Given the description of an element on the screen output the (x, y) to click on. 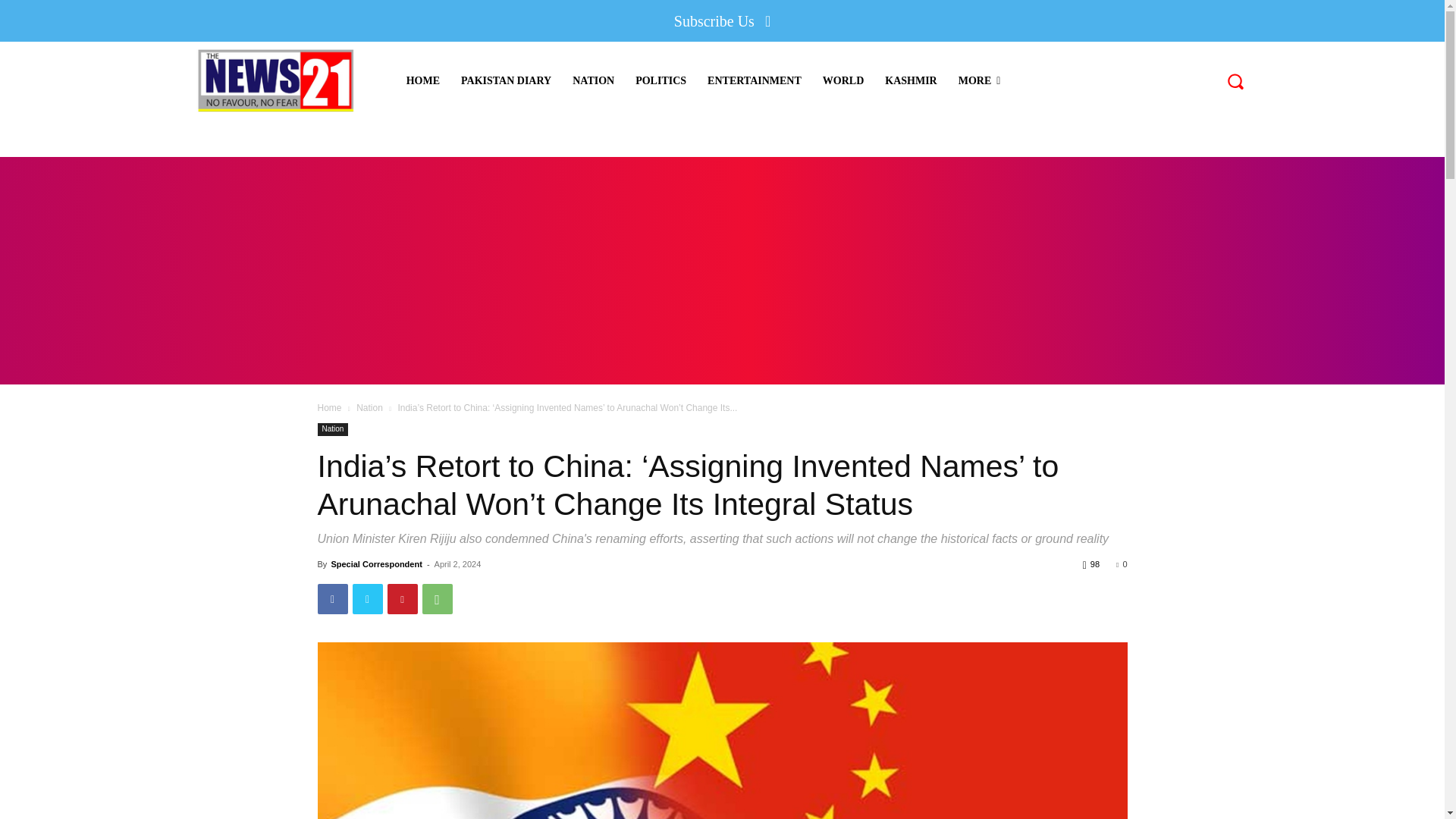
ENTERTAINMENT (754, 80)
Twitter (366, 598)
WhatsApp (436, 598)
HOME (422, 80)
Nation (369, 407)
WORLD (843, 80)
Home (328, 407)
Nation (332, 429)
Facebook (332, 598)
Special Correspondent (376, 563)
KASHMIR (911, 80)
Pinterest (401, 598)
POLITICS (660, 80)
PAKISTAN DIARY (505, 80)
